Given the description of an element on the screen output the (x, y) to click on. 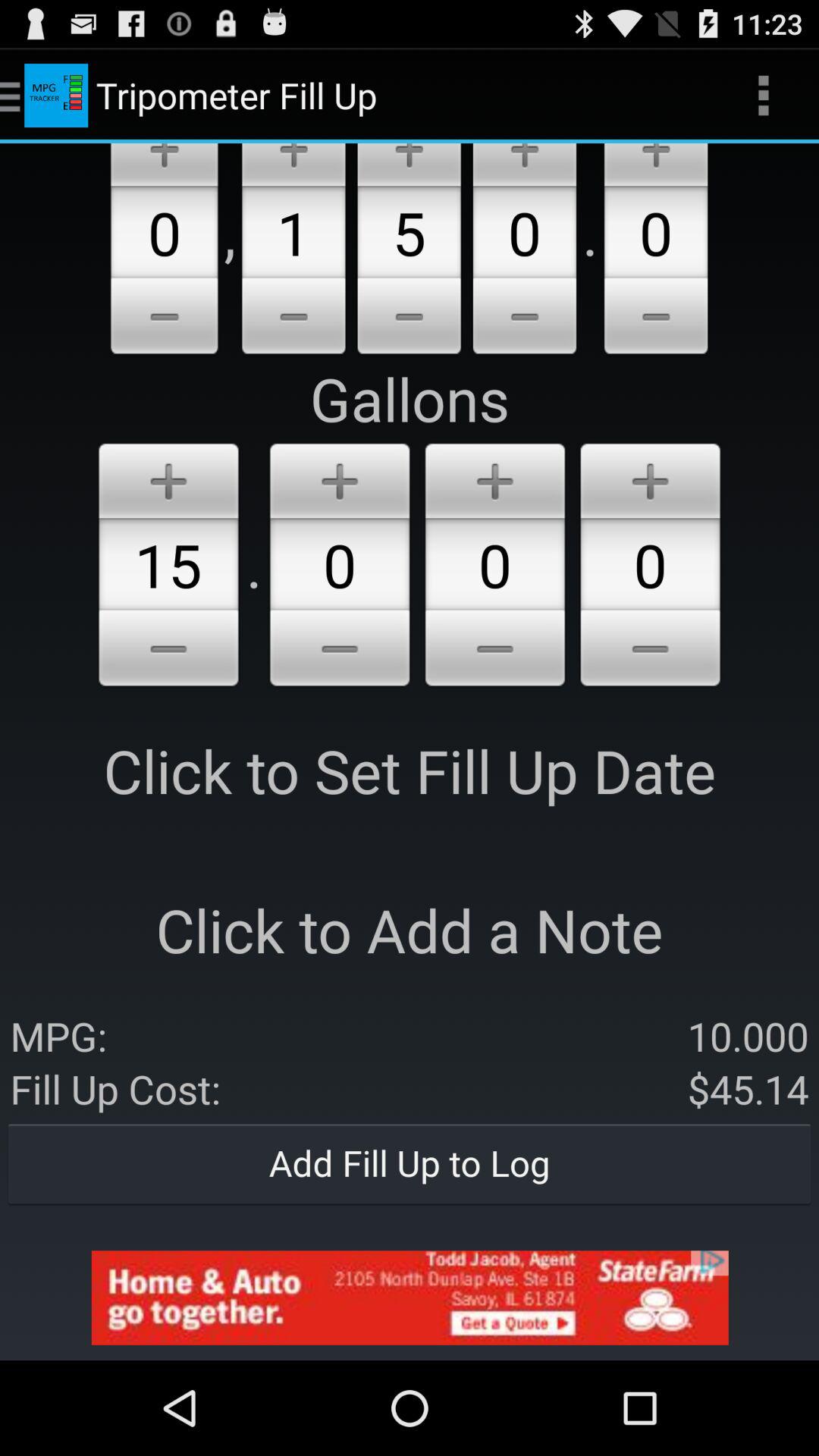
to increase number (494, 478)
